Given the description of an element on the screen output the (x, y) to click on. 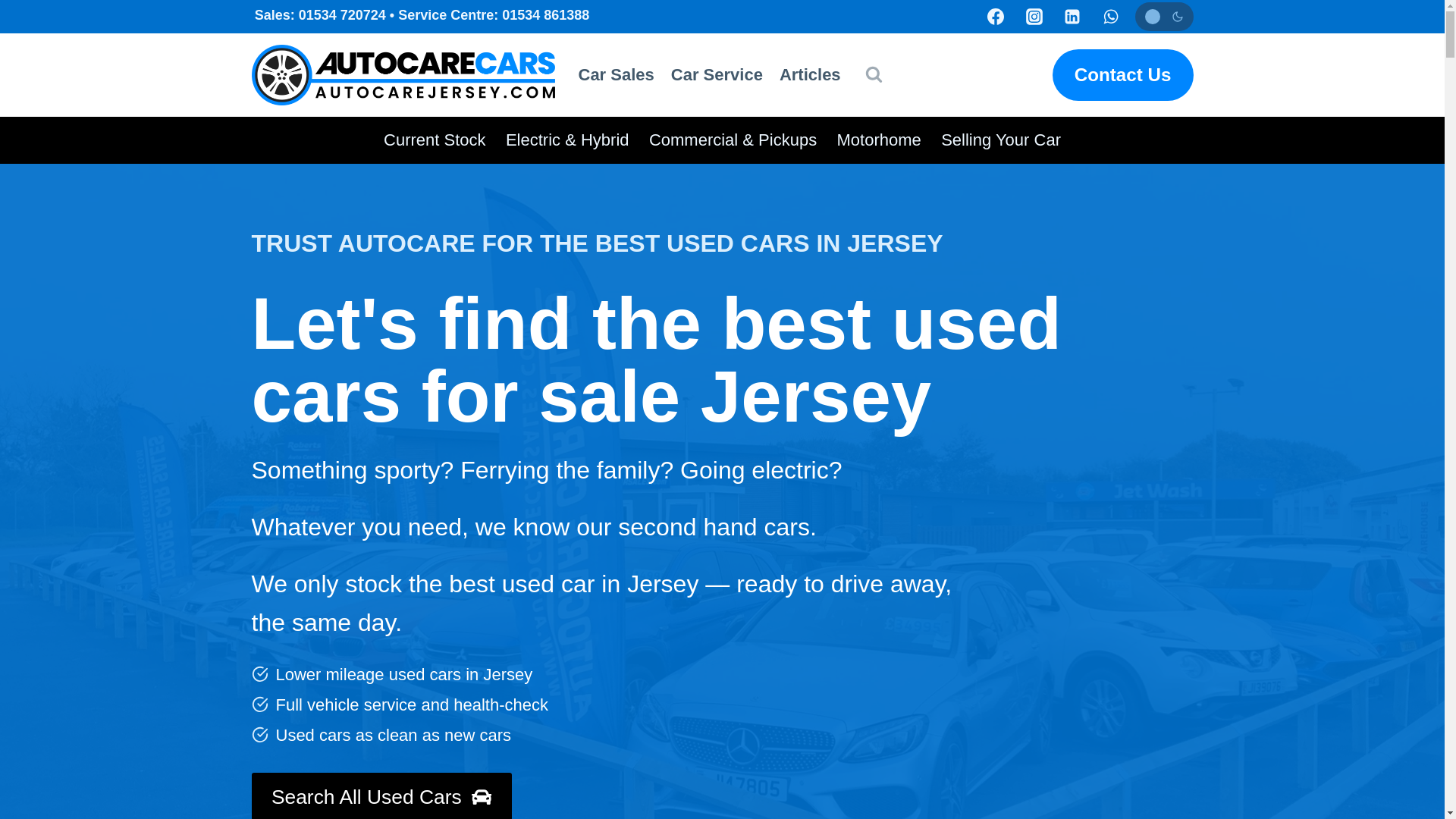
Current Stock (435, 140)
Contact Us (1122, 74)
Selling Your Car (1000, 140)
Car Sales (616, 74)
Car Service (716, 74)
Search All Used Cars (381, 796)
Articles (809, 74)
Motorhome (879, 140)
